Given the description of an element on the screen output the (x, y) to click on. 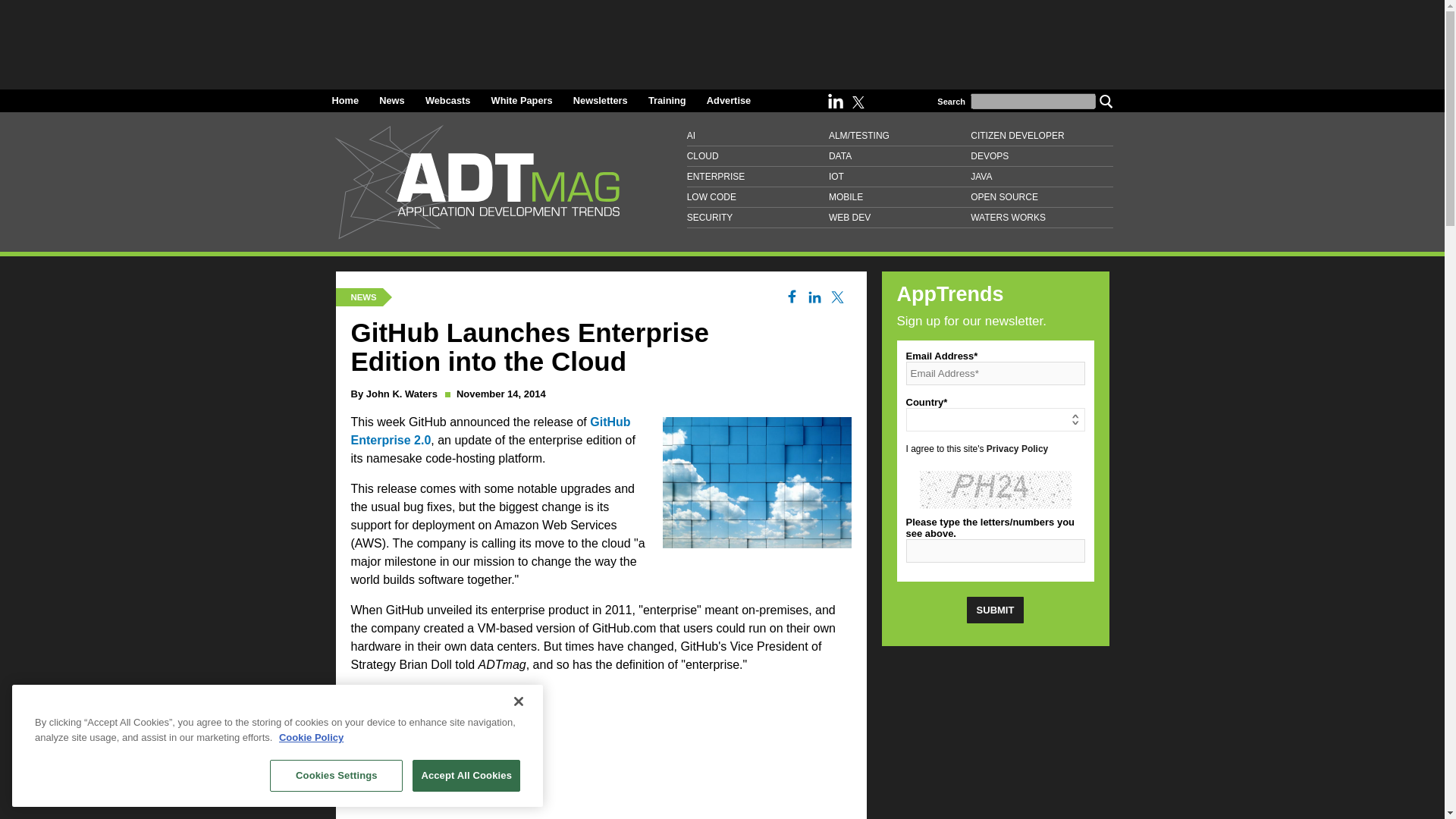
DEVOPS (1041, 156)
OPEN SOURCE (1041, 197)
NEWS (362, 297)
3rd party ad content (721, 39)
White Papers (522, 100)
WATERS WORKS (1041, 218)
GitHub Enterprise 2.0 (490, 430)
Webcasts (447, 100)
WEB DEV (899, 218)
CLOUD (757, 156)
IOT (899, 177)
DATA (899, 156)
CITIZEN DEVELOPER (1041, 136)
JAVA (1041, 177)
News (391, 100)
